Given the description of an element on the screen output the (x, y) to click on. 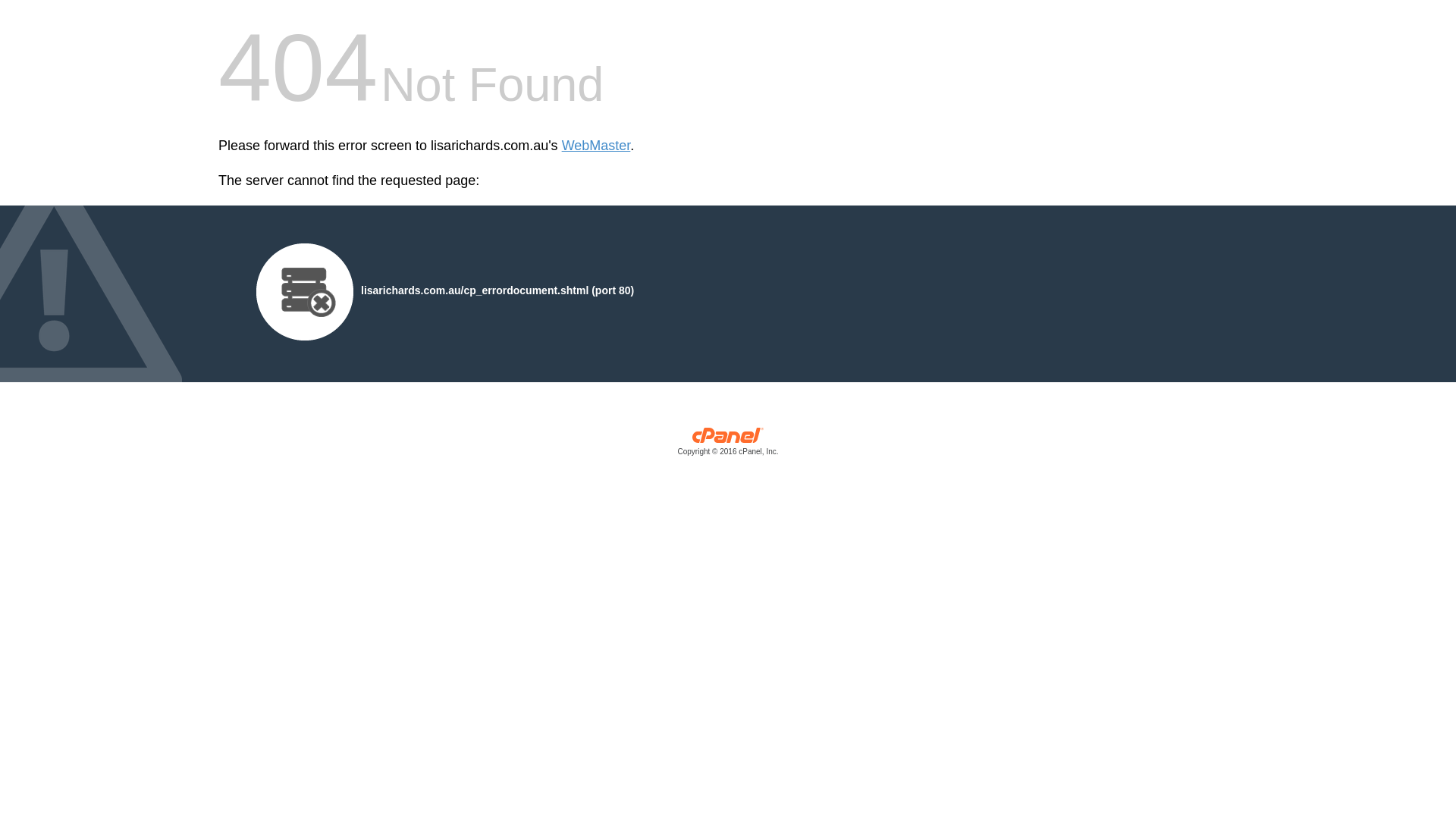
WebMaster Element type: text (595, 145)
